Given the description of an element on the screen output the (x, y) to click on. 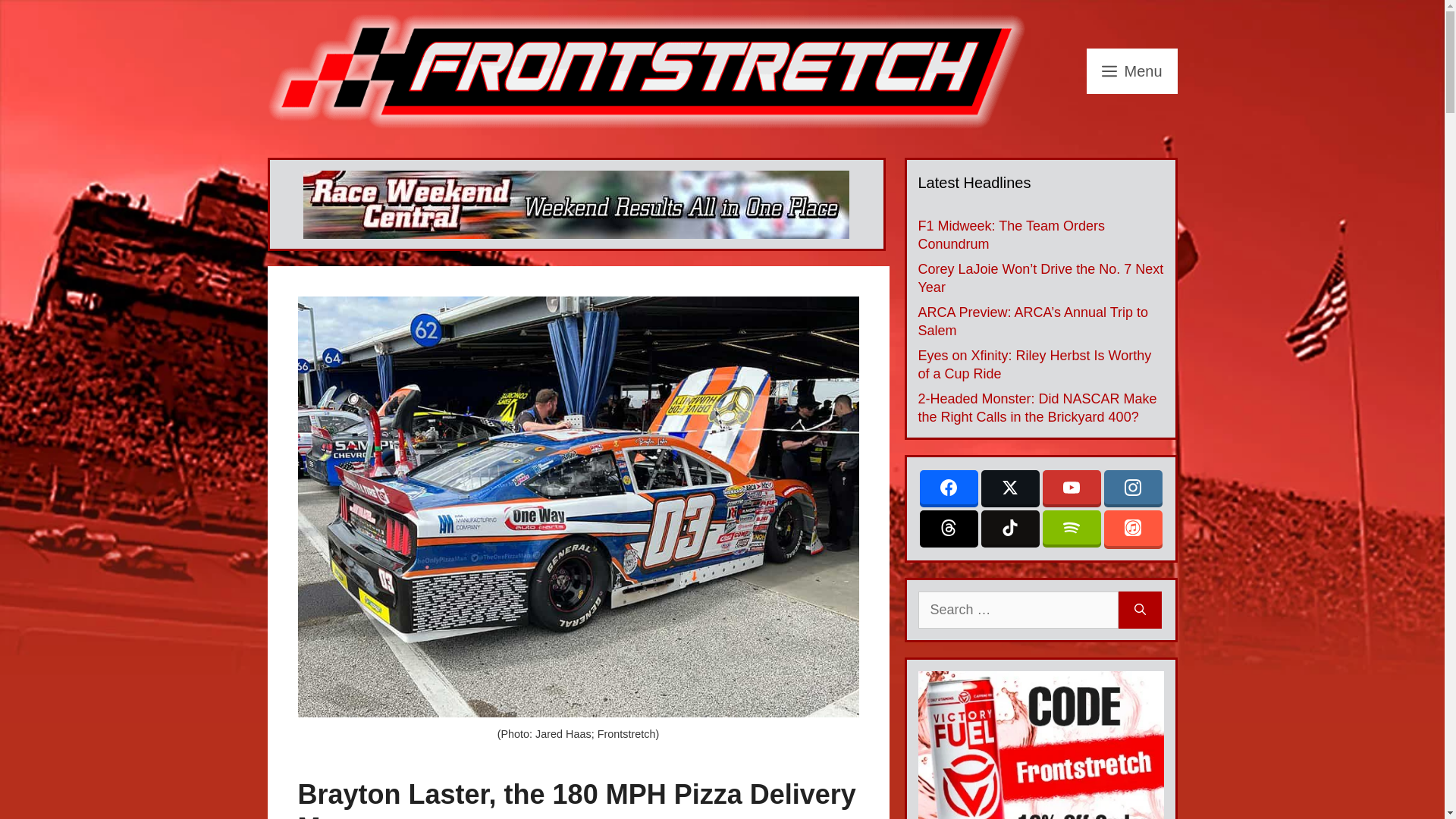
Menu (1131, 71)
